Given the description of an element on the screen output the (x, y) to click on. 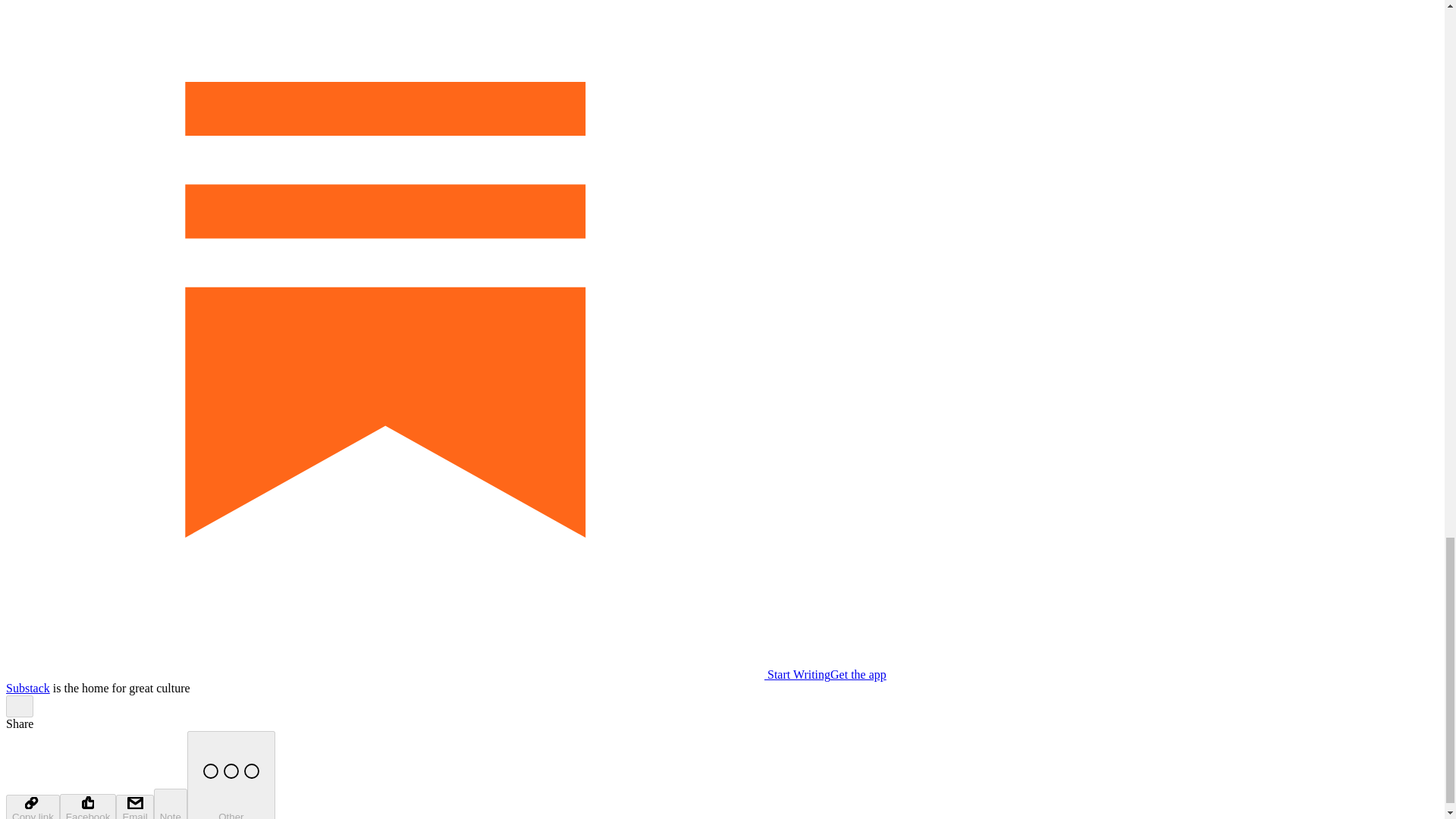
Start Writing (417, 674)
Get the app (857, 674)
Substack (27, 687)
